Given the description of an element on the screen output the (x, y) to click on. 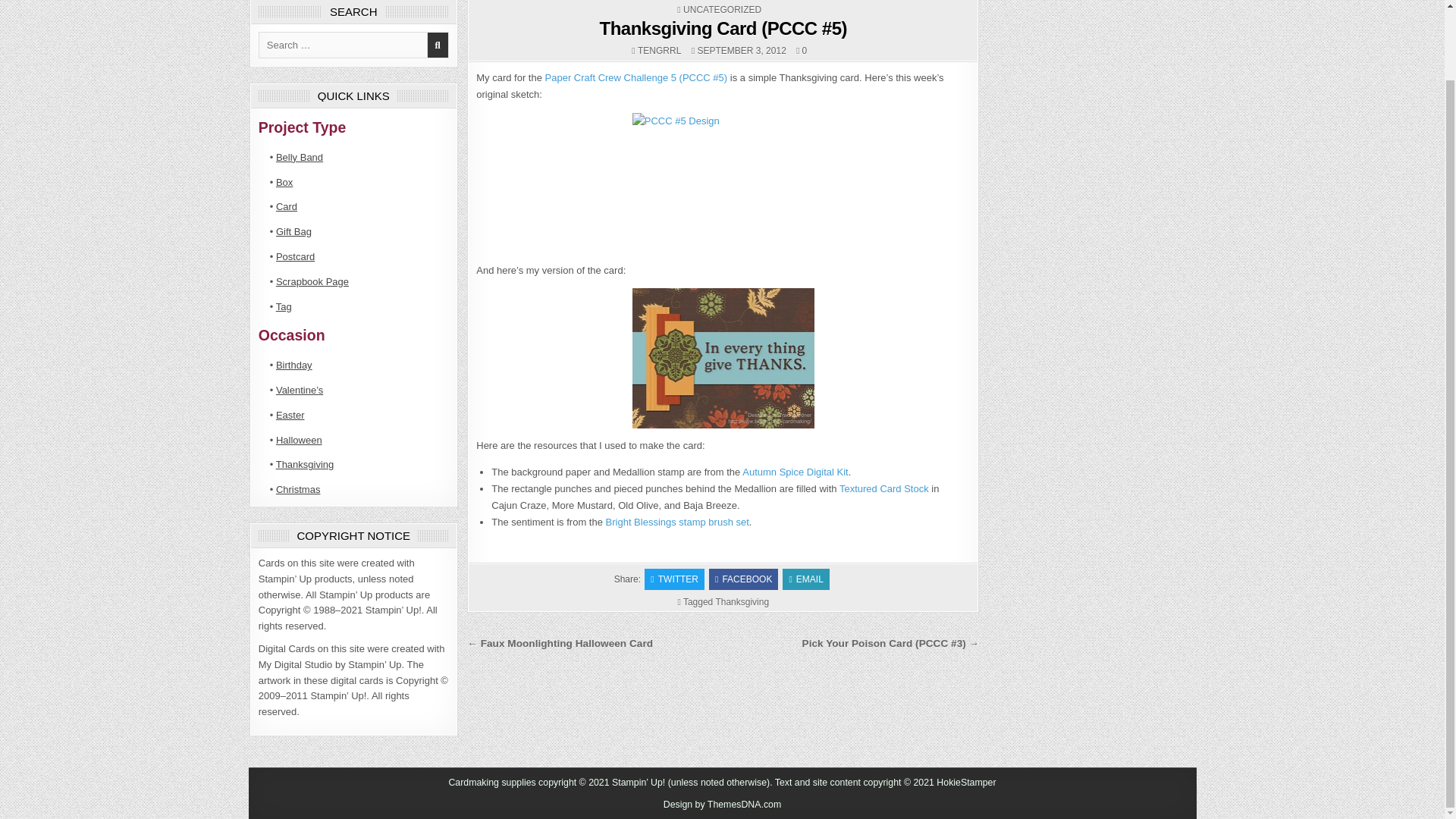
Card (286, 206)
FACEBOOK (743, 578)
Tag (284, 306)
Gift Bag (293, 231)
Belly Band (299, 156)
Box (284, 182)
0 (801, 50)
Easter (290, 414)
Textured Card Stock (884, 488)
Birthday (294, 365)
